Given the description of an element on the screen output the (x, y) to click on. 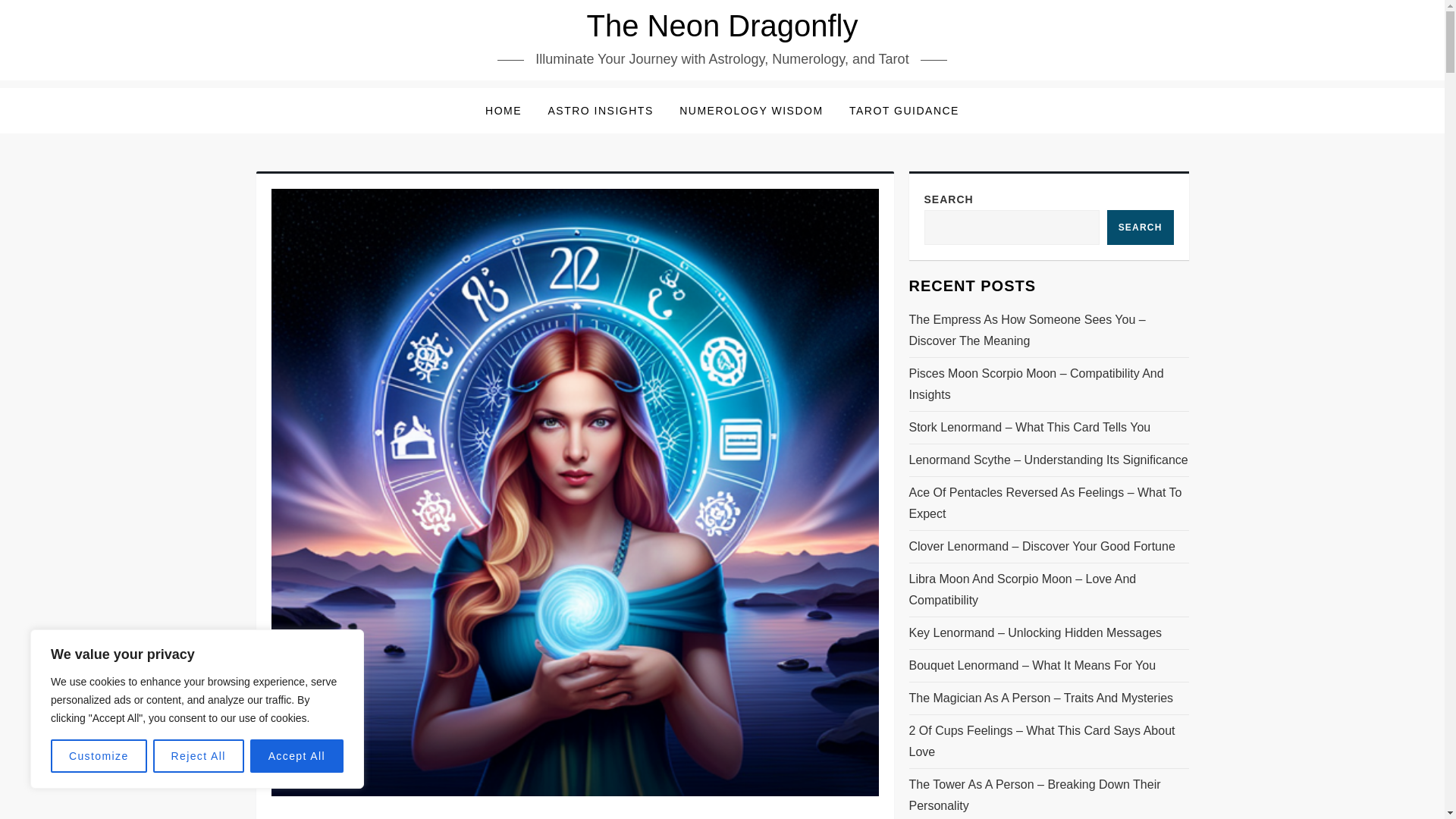
Reject All (198, 756)
NUMEROLOGY WISDOM (751, 110)
HOME (503, 110)
The Neon Dragonfly (722, 25)
Accept All (296, 756)
TAROT GUIDANCE (904, 110)
ASTRO INSIGHTS (601, 110)
Customize (98, 756)
